Given the description of an element on the screen output the (x, y) to click on. 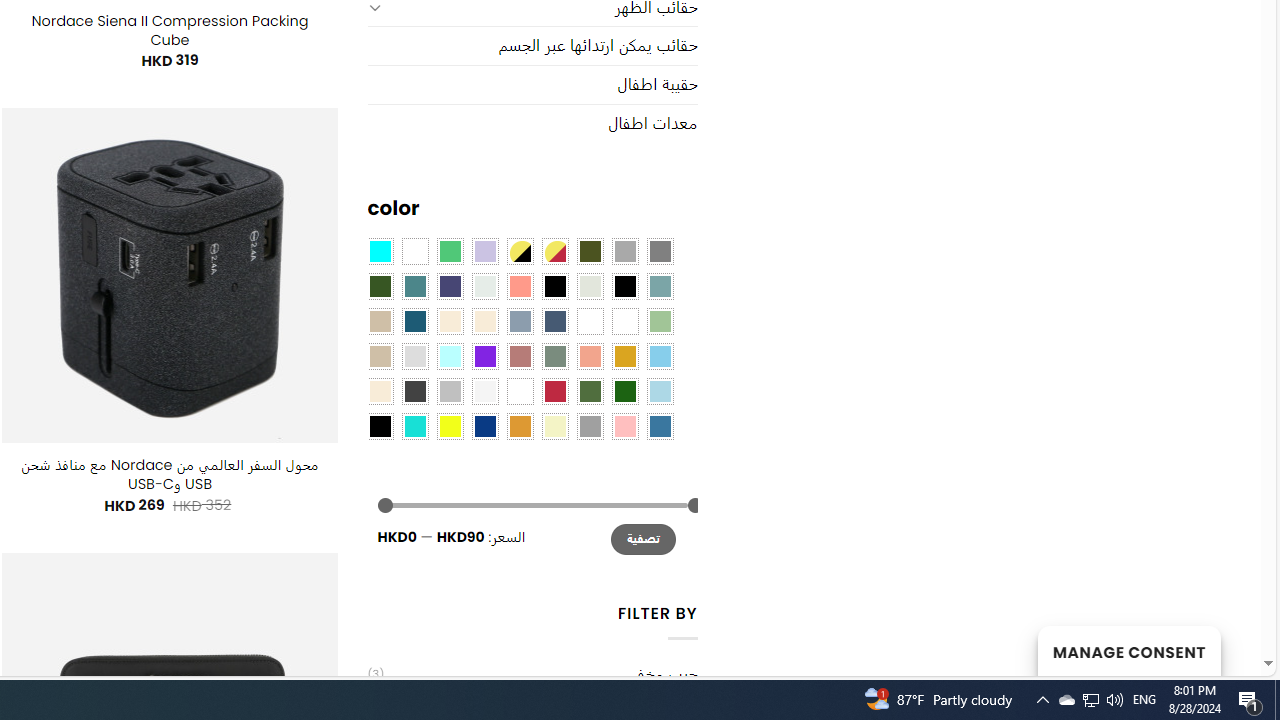
Khaki (624, 321)
Caramel (449, 321)
Rose (519, 355)
All Black (554, 285)
Clear (414, 251)
Forest (379, 285)
Hale Navy (554, 321)
